Given the description of an element on the screen output the (x, y) to click on. 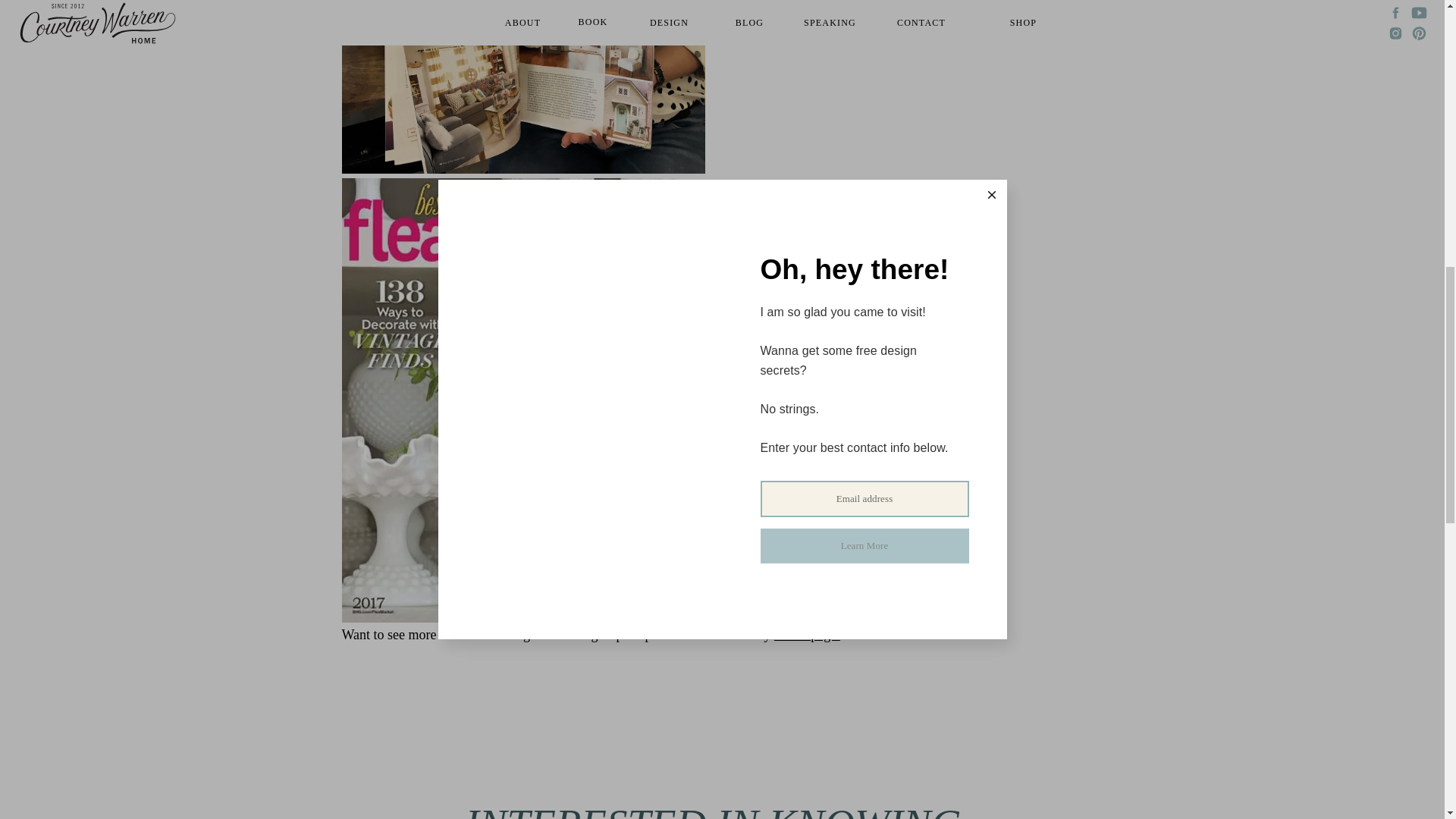
media page. (807, 634)
